Given the description of an element on the screen output the (x, y) to click on. 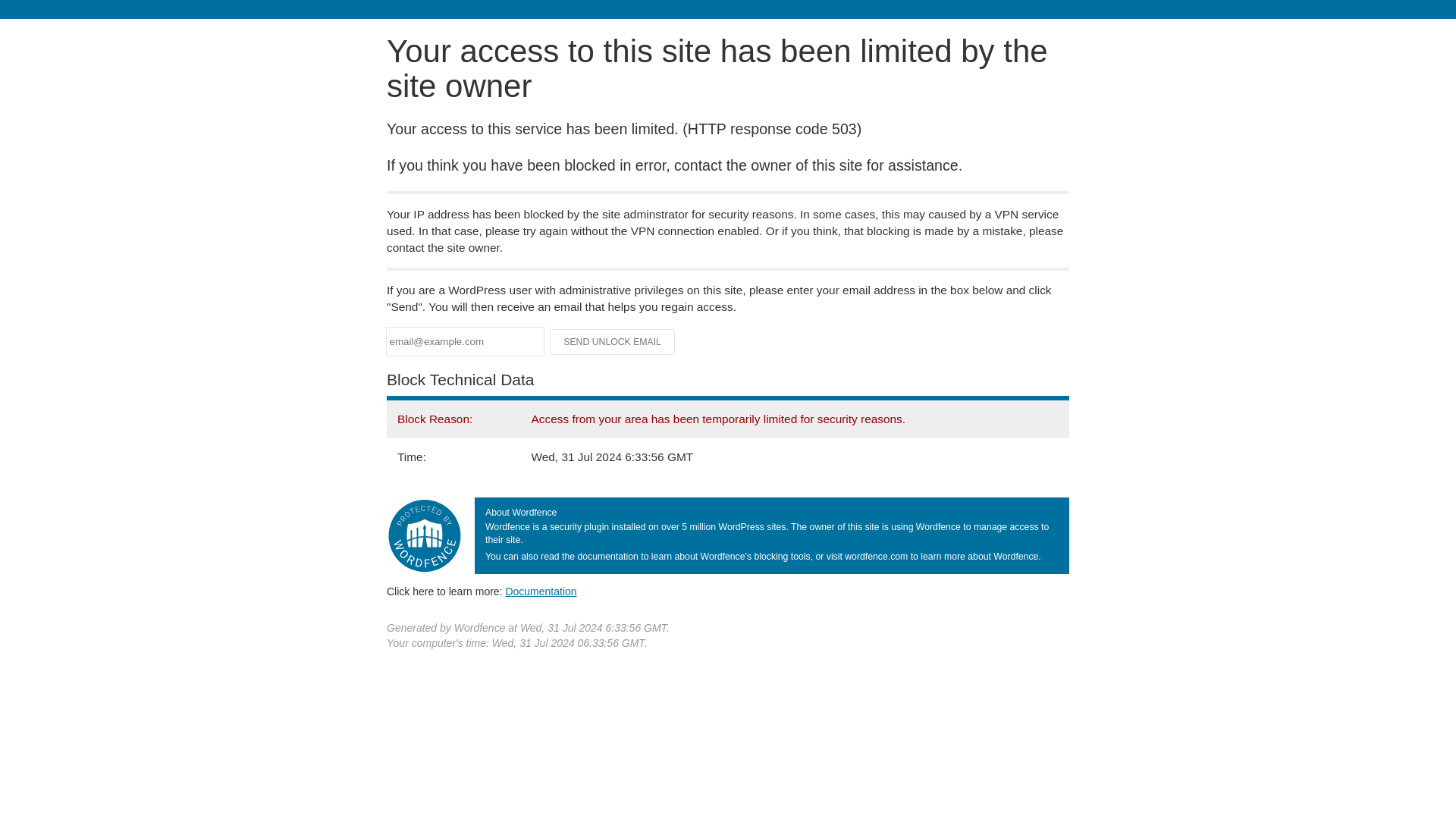
Send Unlock Email (612, 341)
Documentation (540, 591)
Send Unlock Email (612, 341)
